Given the description of an element on the screen output the (x, y) to click on. 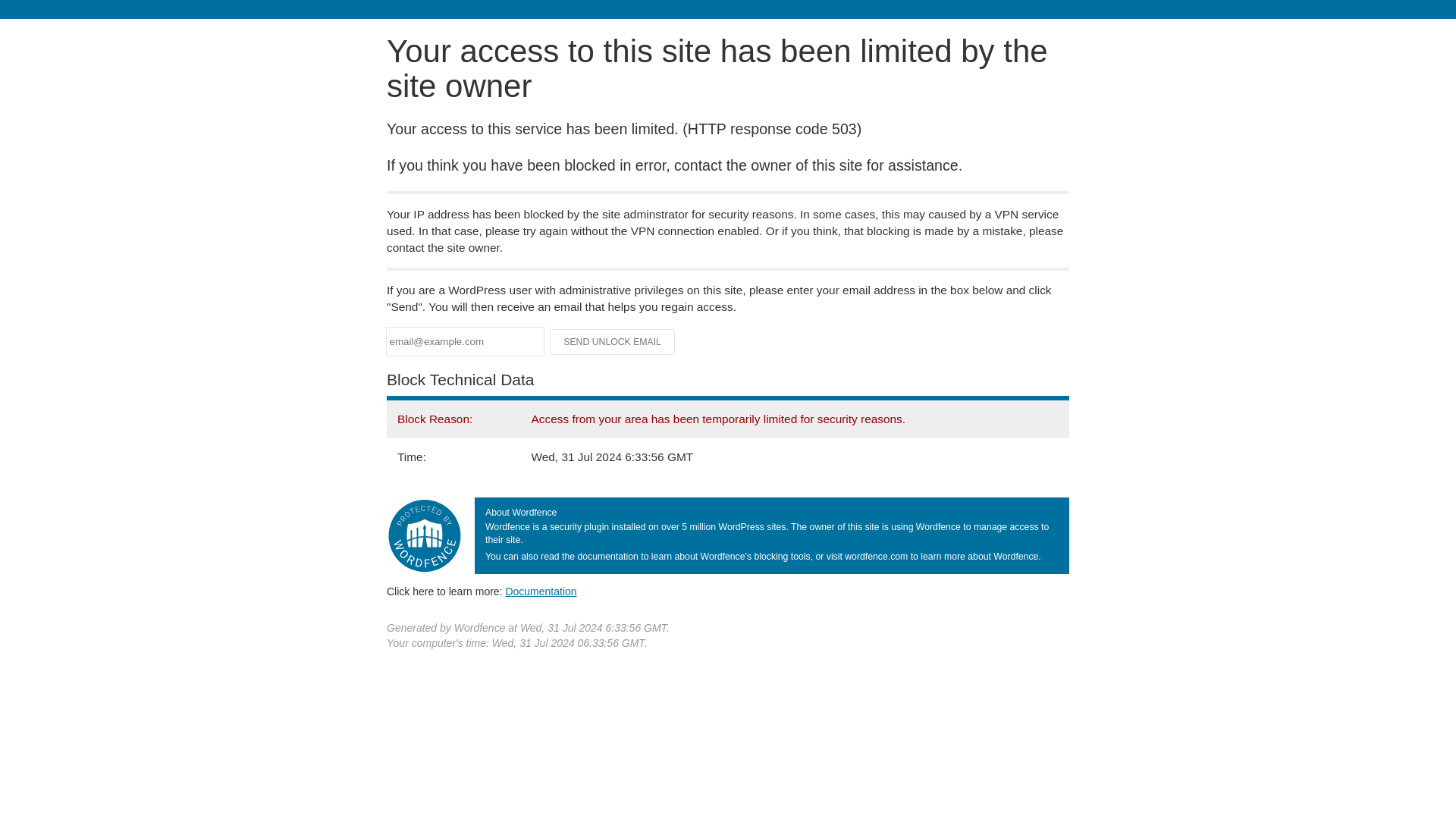
Send Unlock Email (612, 341)
Documentation (540, 591)
Send Unlock Email (612, 341)
